Given the description of an element on the screen output the (x, y) to click on. 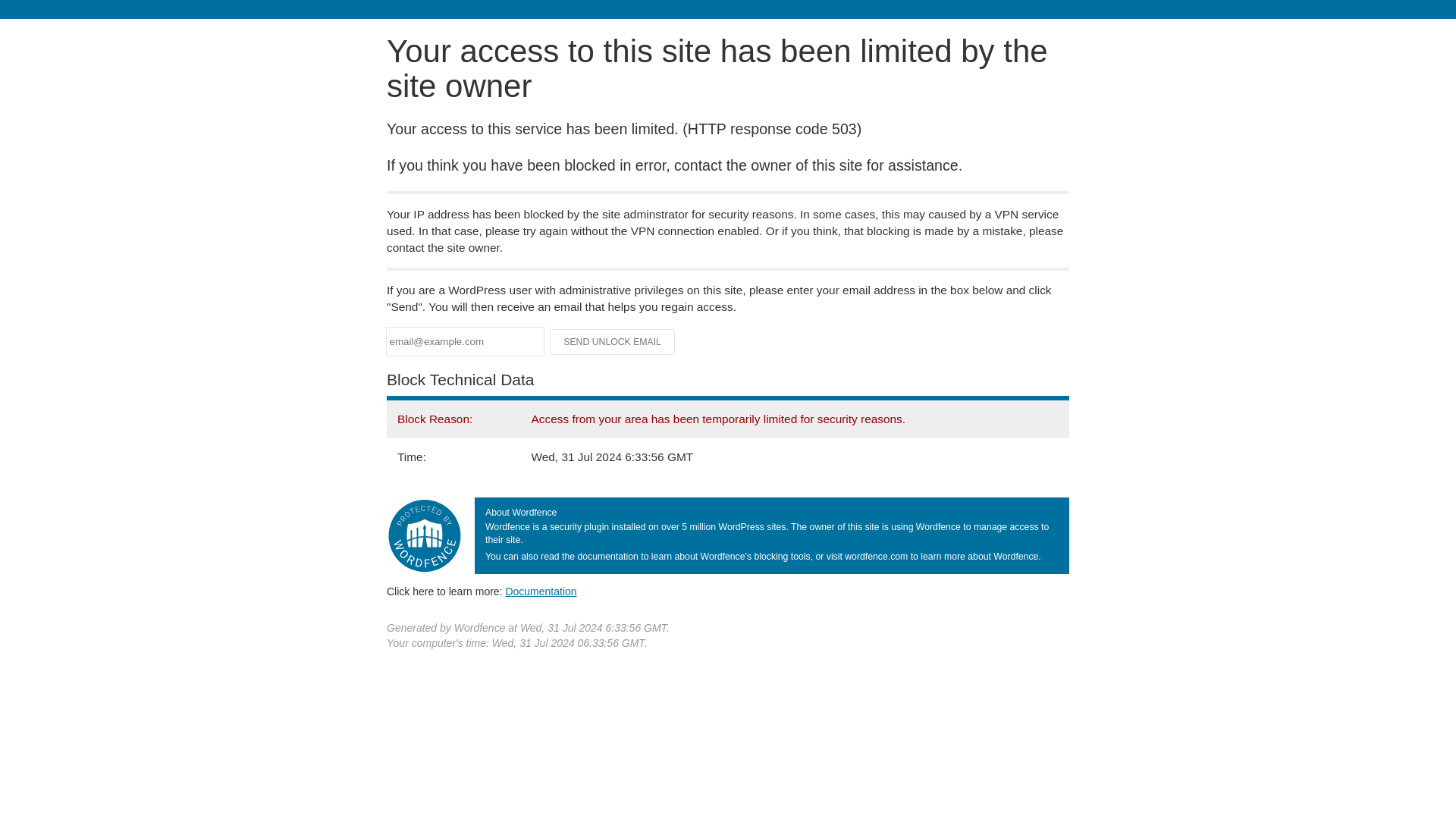
Send Unlock Email (612, 341)
Documentation (540, 591)
Send Unlock Email (612, 341)
